Given the description of an element on the screen output the (x, y) to click on. 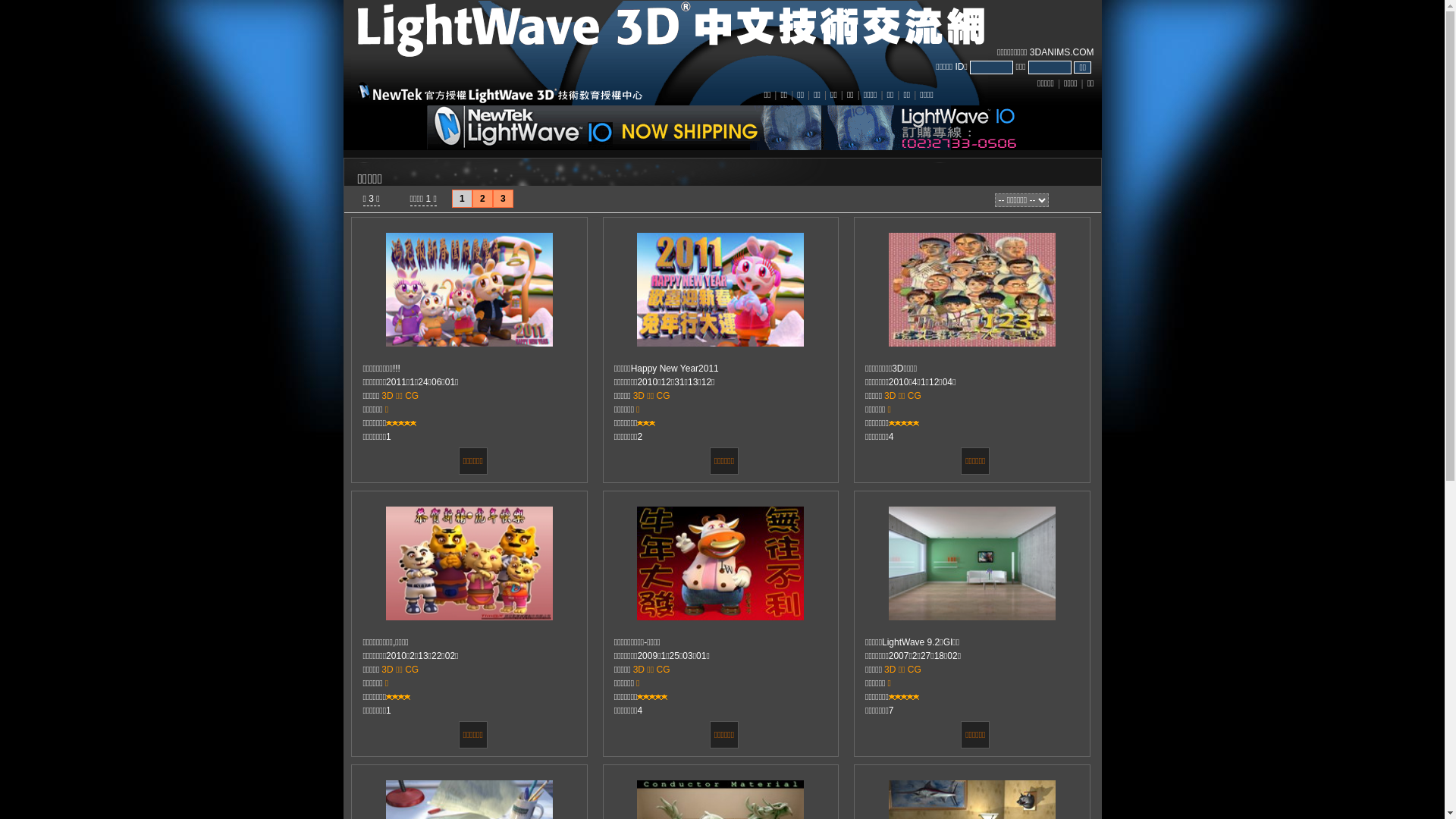
3 Element type: text (502, 198)
2 Element type: text (482, 198)
